Given the description of an element on the screen output the (x, y) to click on. 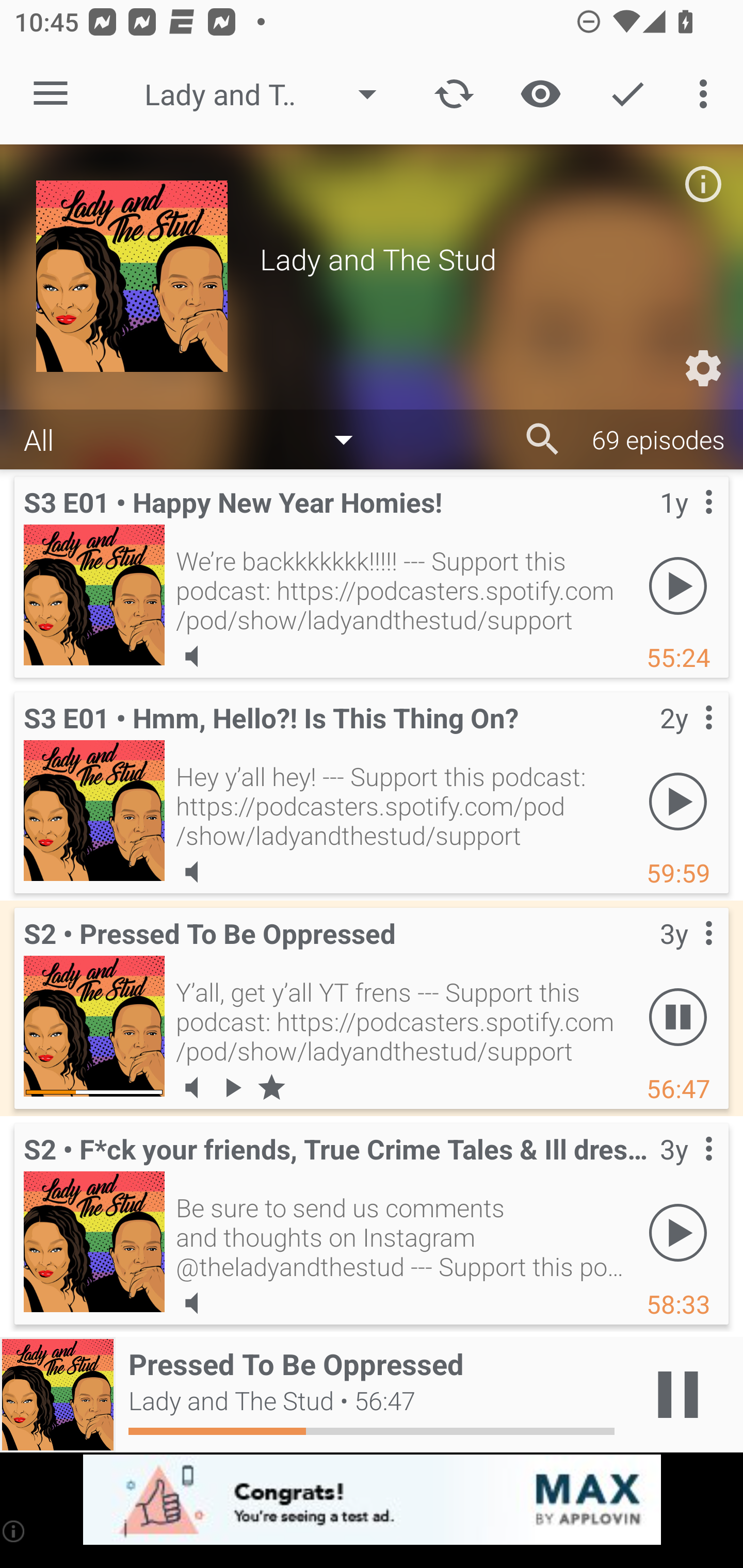
Open navigation sidebar (50, 93)
Update (453, 93)
Show / Hide played content (540, 93)
Action Mode (626, 93)
More options (706, 93)
Lady and The Stud (270, 94)
Podcast description (703, 184)
Custom Settings (703, 368)
Search (542, 439)
All (197, 438)
Contextual menu (685, 522)
Happy New Year Homies! (93, 594)
Play (677, 585)
Contextual menu (685, 738)
Hmm, Hello?! Is This Thing On? (93, 810)
Play (677, 801)
Contextual menu (685, 954)
Pressed To Be Oppressed (93, 1026)
Pause (677, 1016)
Contextual menu (685, 1169)
Play (677, 1232)
Play / Pause (677, 1394)
app-monetization (371, 1500)
(i) (14, 1531)
